Given the description of an element on the screen output the (x, y) to click on. 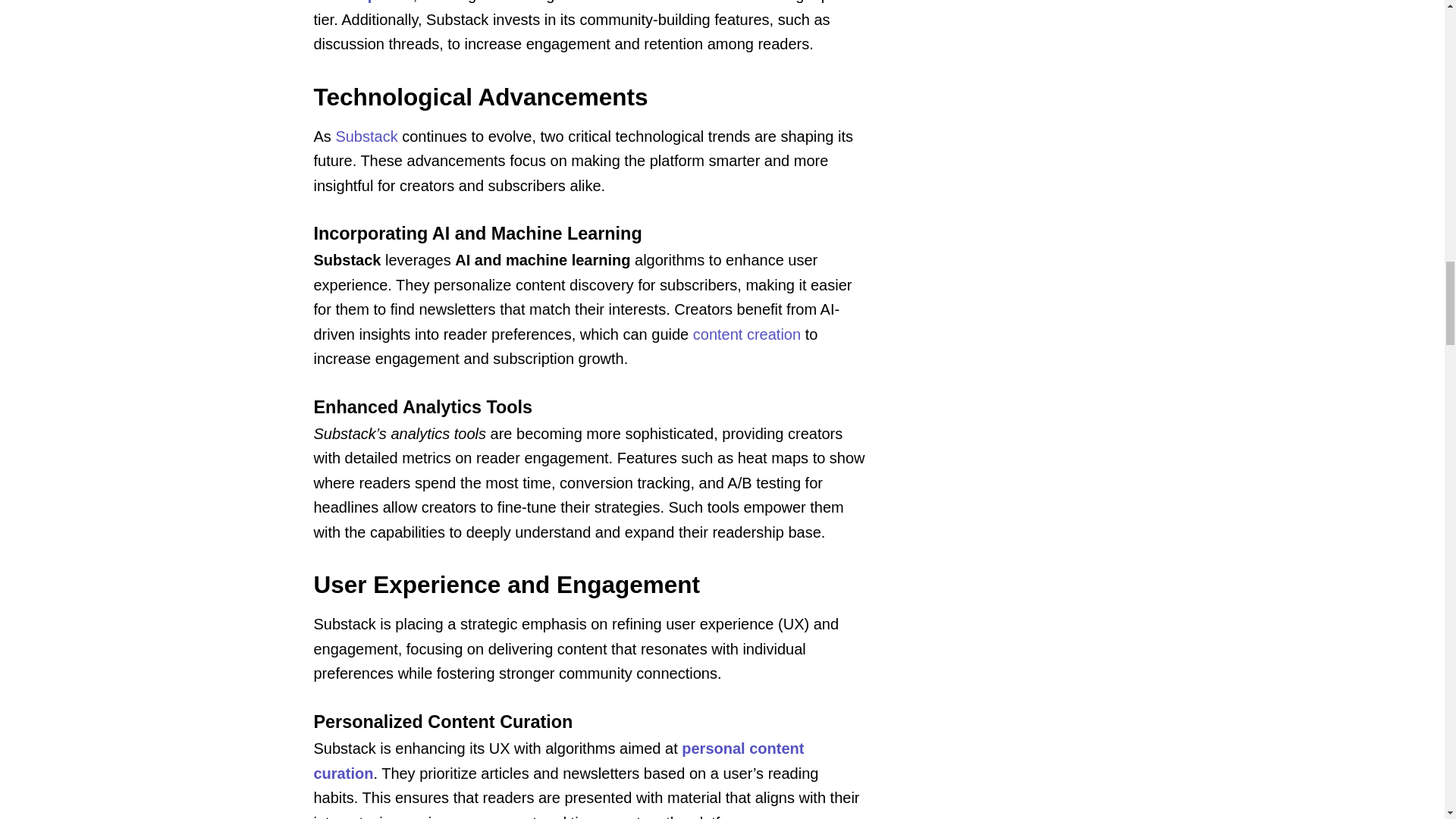
content creation (746, 334)
Substack (365, 135)
personal content curation (559, 761)
